Given the description of an element on the screen output the (x, y) to click on. 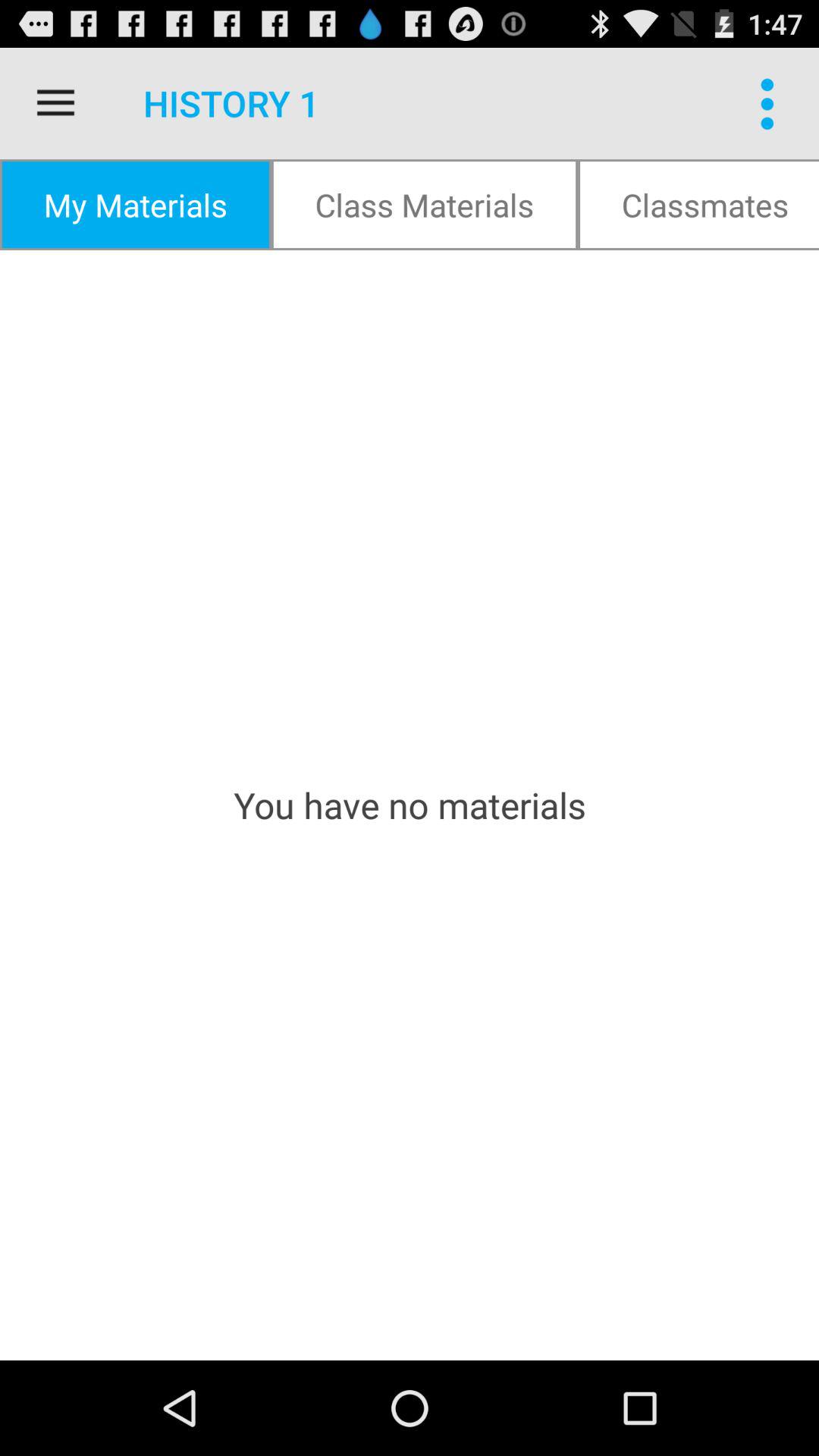
turn on classmates icon (698, 204)
